Given the description of an element on the screen output the (x, y) to click on. 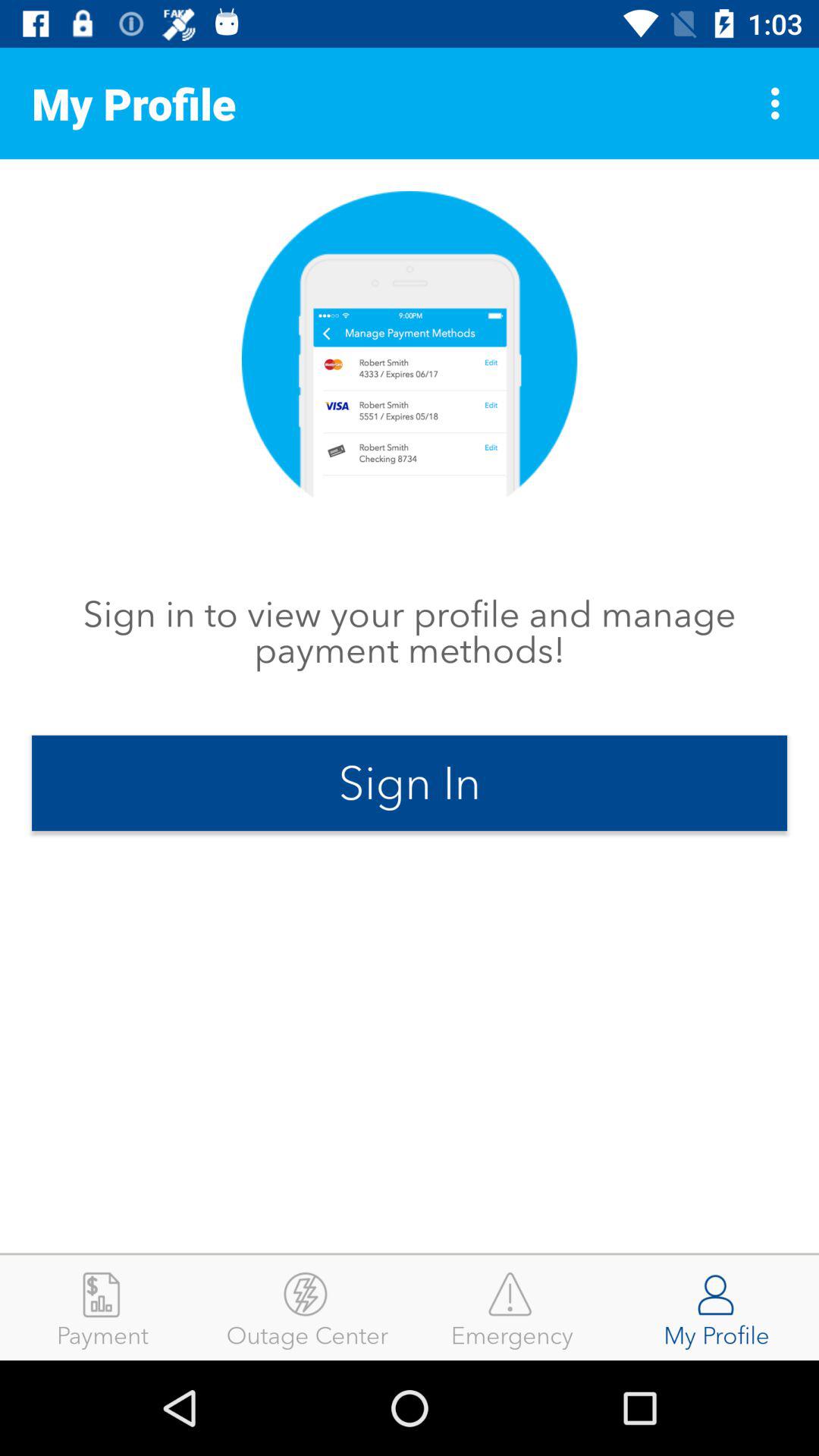
open item next to the my profile icon (511, 1307)
